Given the description of an element on the screen output the (x, y) to click on. 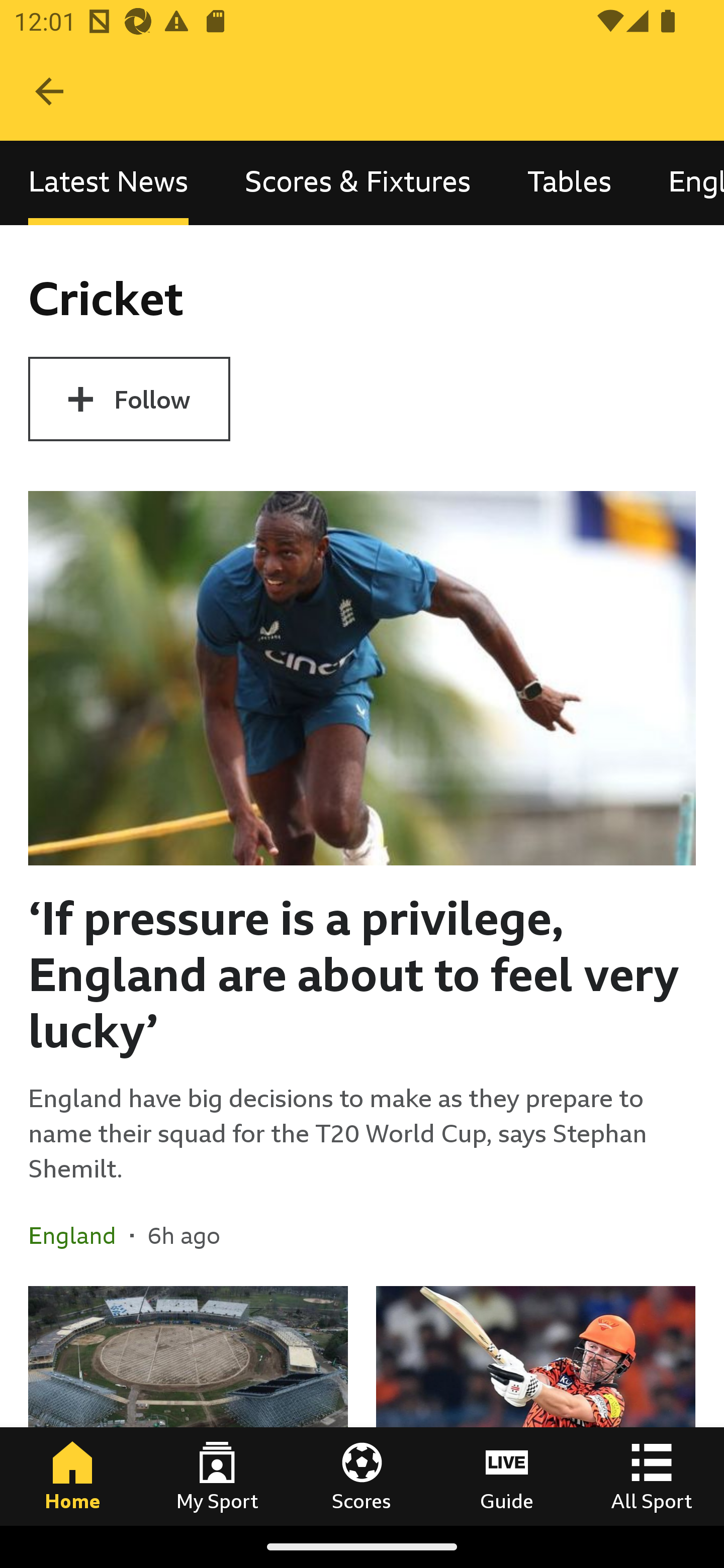
Navigate up (49, 91)
Latest News, selected Latest News (108, 183)
Scores & Fixtures (357, 183)
Tables (569, 183)
Follow Cricket Follow (129, 398)
England In the section England (79, 1234)
The batting blitz turning cricket into baseball (535, 1405)
My Sport (216, 1475)
Scores (361, 1475)
Guide (506, 1475)
All Sport (651, 1475)
